Given the description of an element on the screen output the (x, y) to click on. 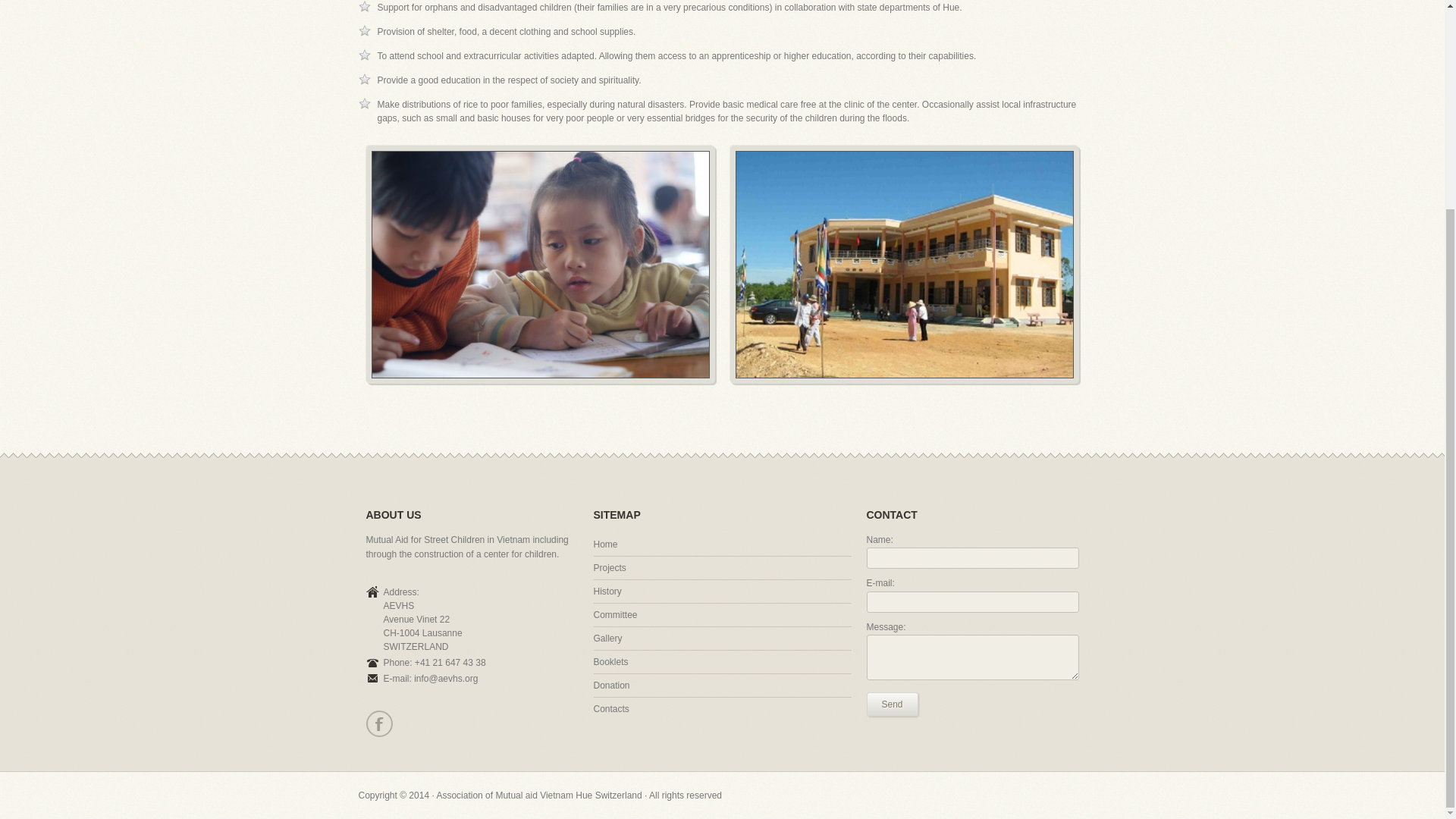
Contacts (610, 708)
Donation (610, 685)
Committee (614, 614)
History (606, 591)
Booklets (609, 661)
Send (891, 704)
Facebook (378, 723)
Gallery (606, 638)
Home (604, 543)
Projects (609, 567)
